Given the description of an element on the screen output the (x, y) to click on. 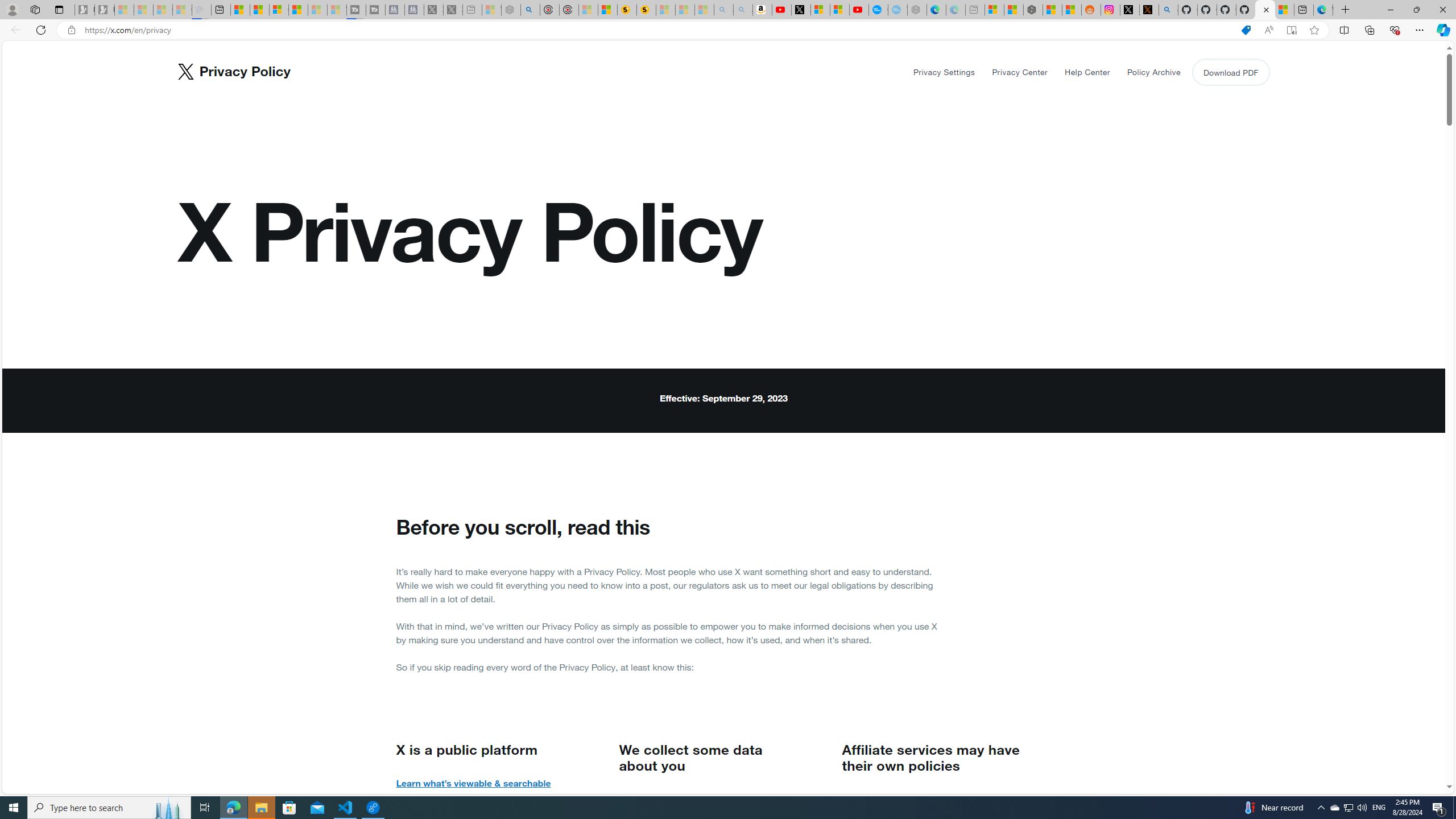
X (800, 9)
Overview (279, 9)
amazon - Search - Sleeping (723, 9)
Welcome to Microsoft Edge (1323, 9)
Download PDF (1230, 71)
Amazon Echo Dot PNG - Search Images - Sleeping (742, 9)
Policy Archive (1153, 72)
X Privacy Policy (1264, 9)
